Given the description of an element on the screen output the (x, y) to click on. 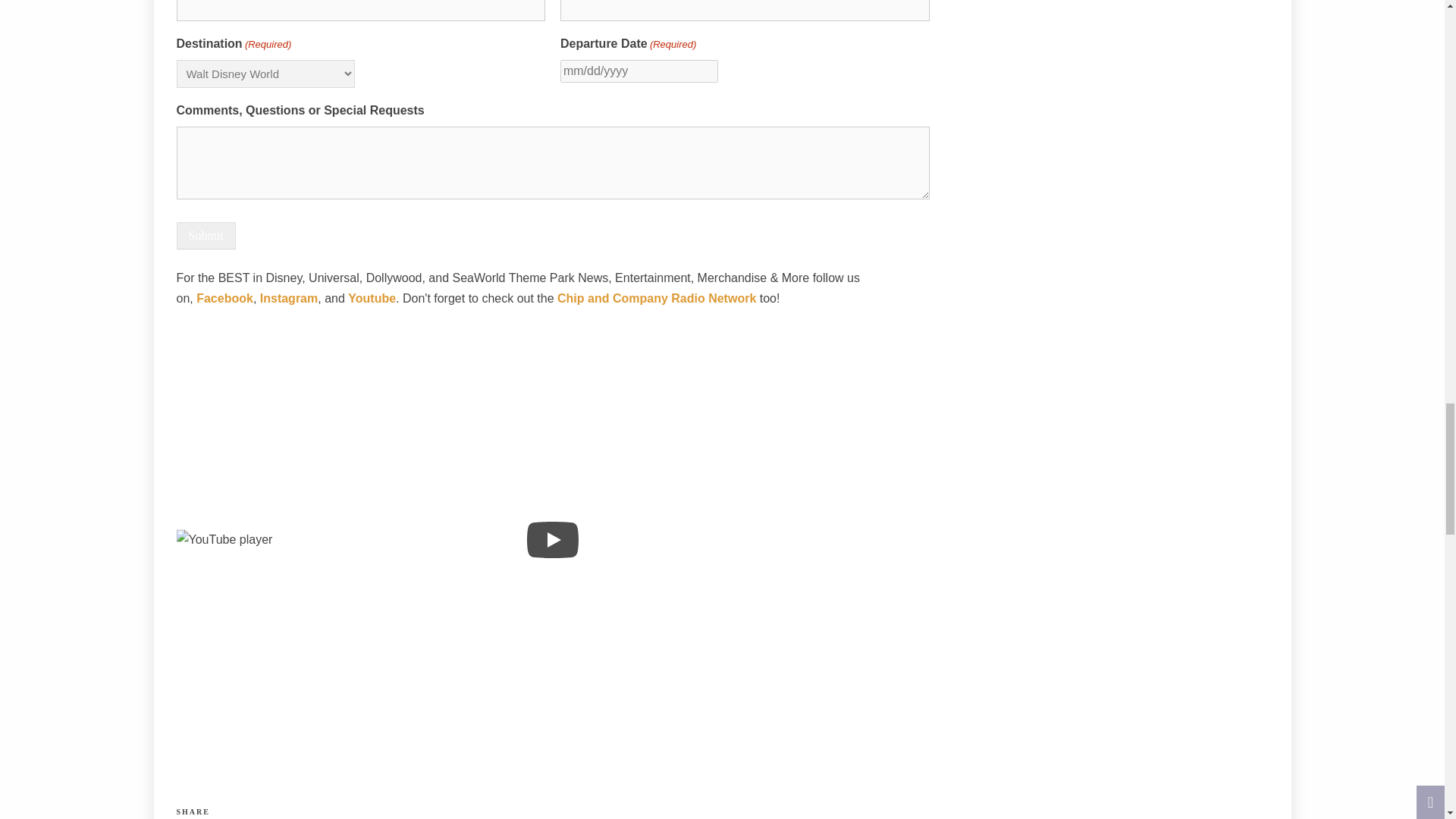
Submit (205, 235)
